Given the description of an element on the screen output the (x, y) to click on. 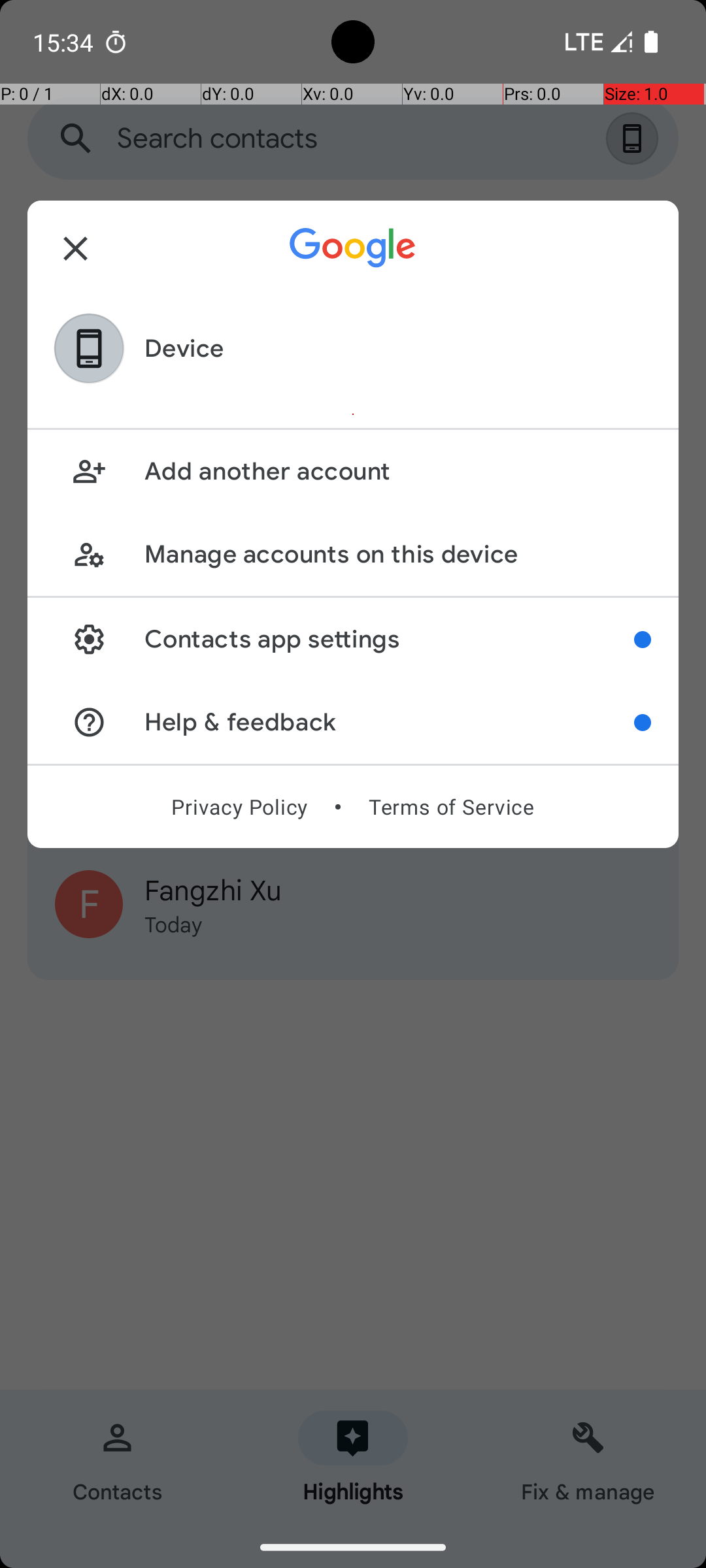
Privacy Policy Element type: android.widget.Button (239, 806)
Terms of Service Element type: android.widget.Button (450, 806)
Add another account Element type: android.widget.TextView (397, 471)
Manage accounts on this device Element type: android.widget.TextView (397, 554)
Contacts app settings Element type: android.widget.TextView (389, 638)
